Given the description of an element on the screen output the (x, y) to click on. 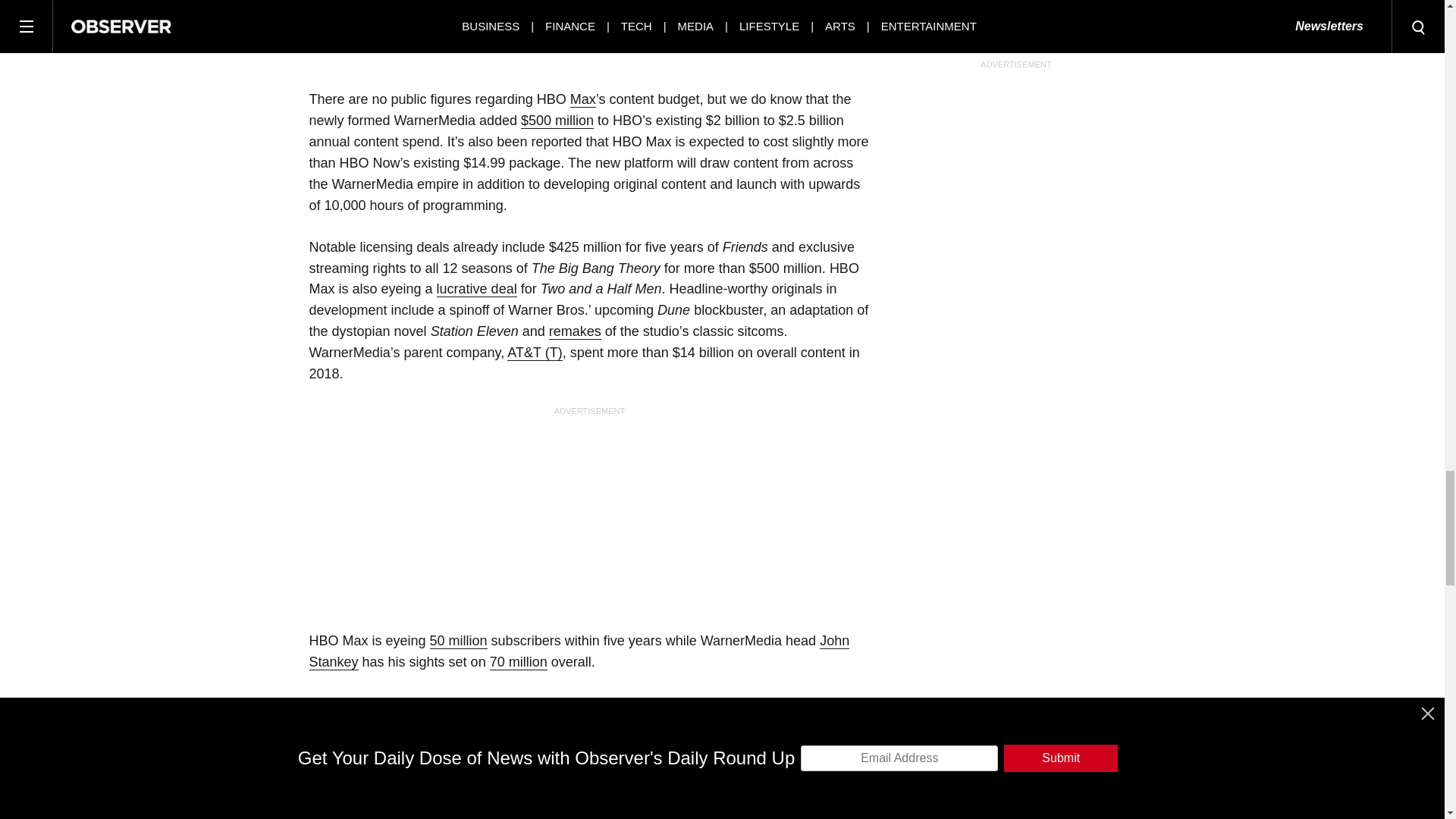
Hulu (322, 816)
Max (582, 99)
John Stankey (579, 651)
